Given the description of an element on the screen output the (x, y) to click on. 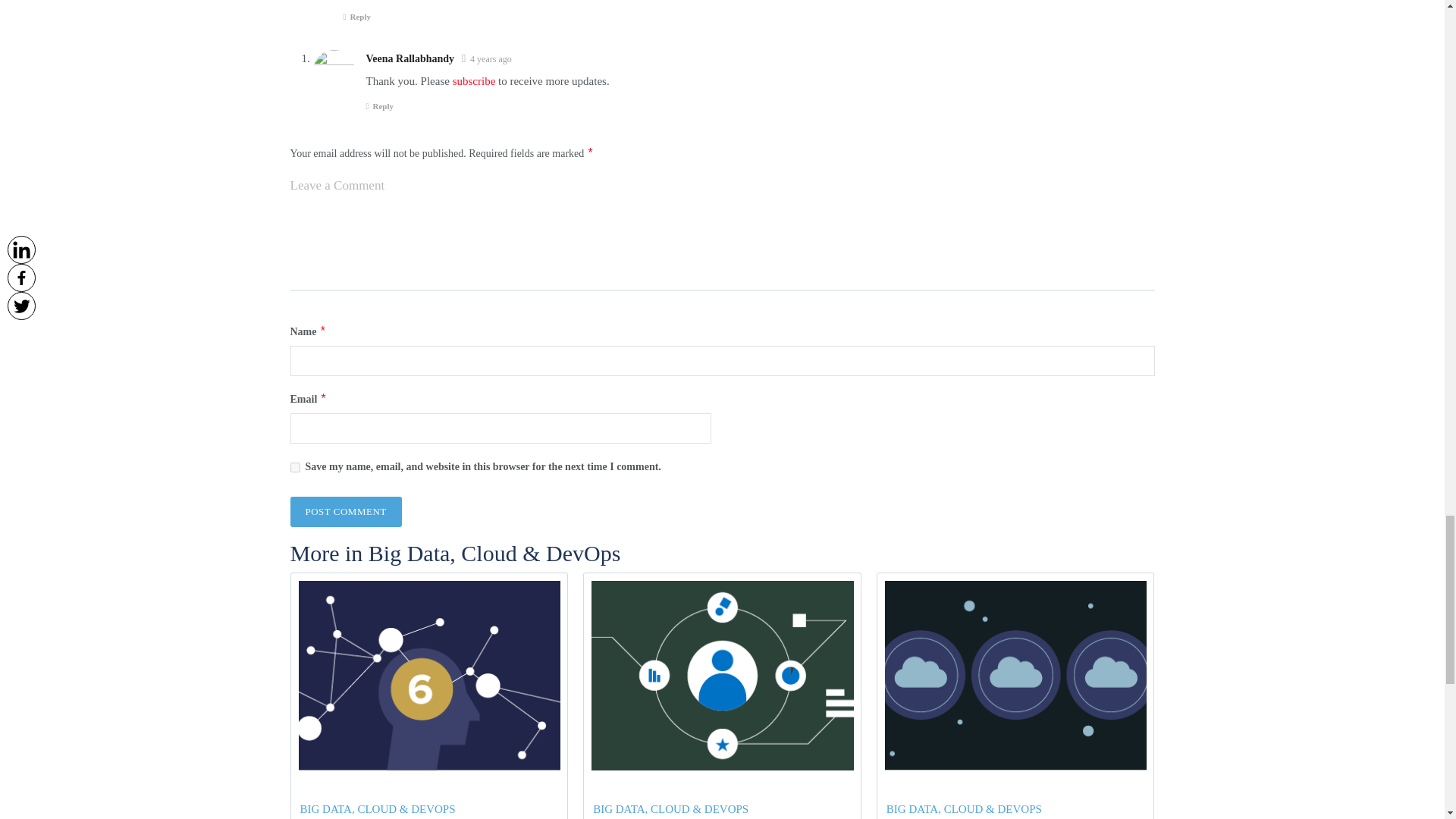
Post Comment (345, 511)
4 years ago (491, 59)
Reply (379, 105)
subscribe (474, 80)
Post Comment (345, 511)
yes (294, 467)
Reply (356, 16)
